Given the description of an element on the screen output the (x, y) to click on. 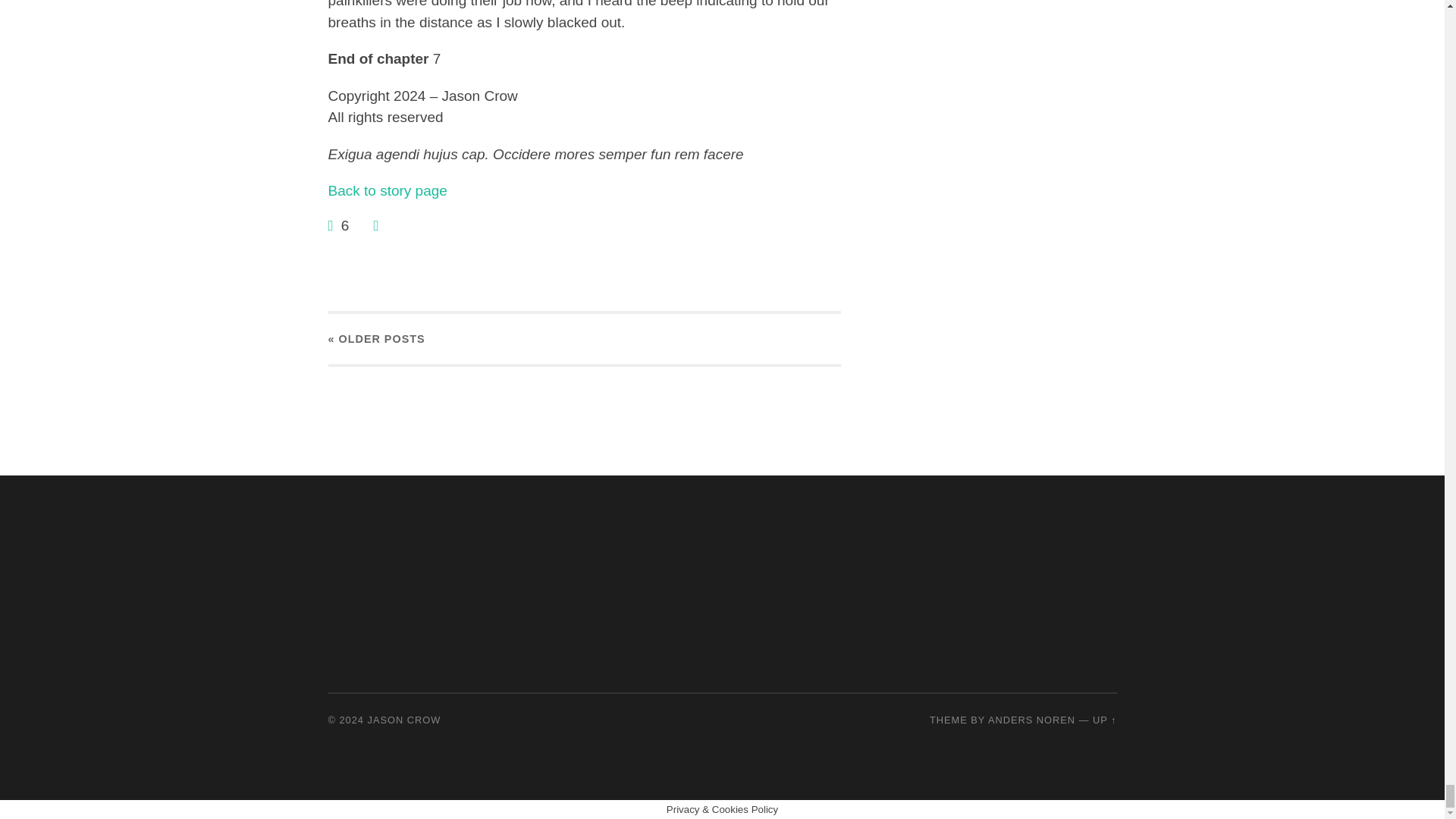
Aetheria (386, 190)
Yeah! (331, 225)
Meh... (375, 225)
